Given the description of an element on the screen output the (x, y) to click on. 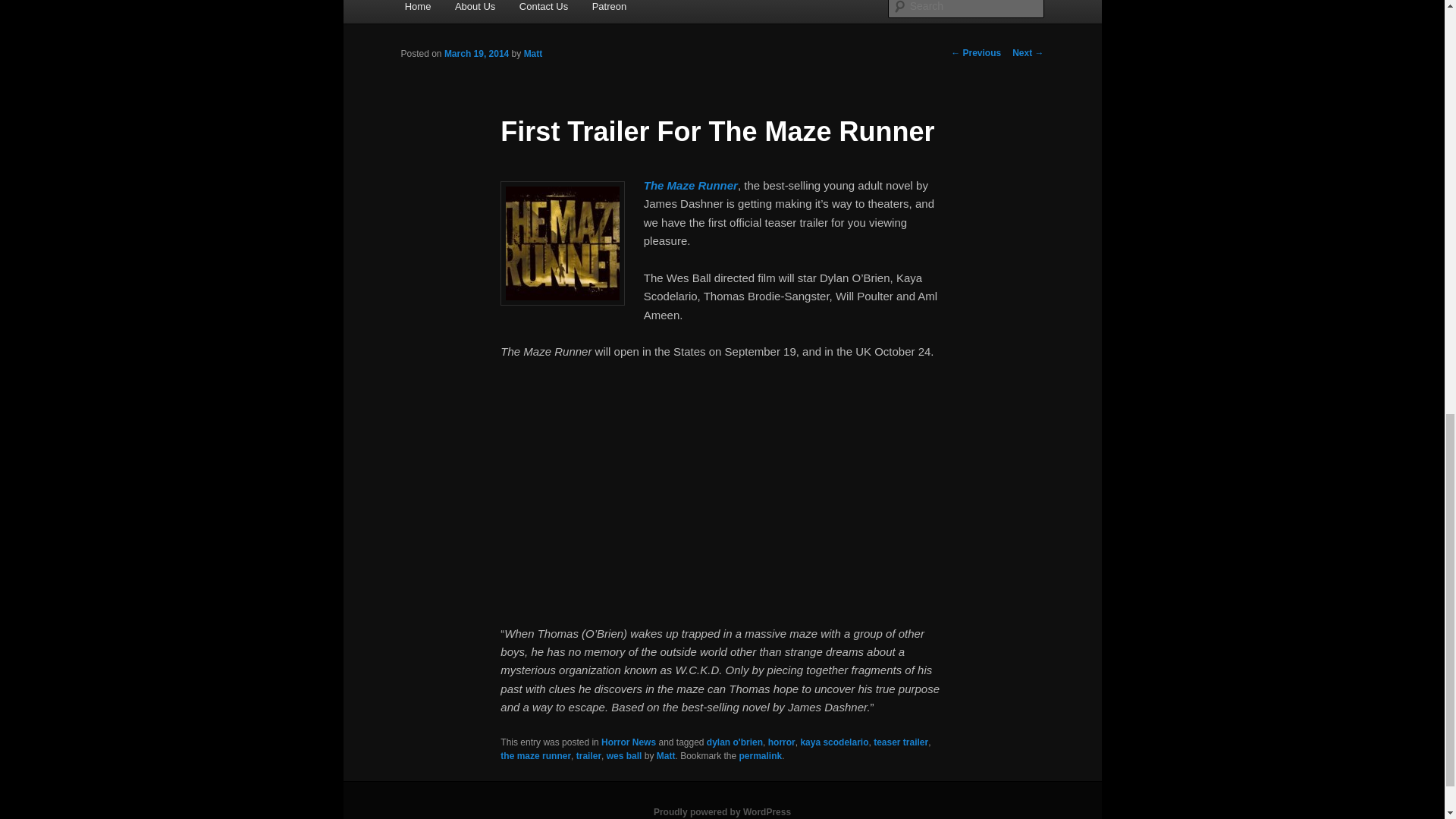
March 19, 2014 (476, 53)
Matt (533, 53)
trailer (588, 756)
The Maze Runner (690, 185)
the maze runner (535, 756)
teaser trailer (900, 742)
Patreon (609, 11)
wes ball (624, 756)
kaya scodelario (833, 742)
Horror News (628, 742)
Home (417, 11)
Permalink to First Trailer For The Maze Runner (761, 756)
Contact Us (542, 11)
Proudly powered by WordPress (721, 811)
dylan o'brien (734, 742)
